Given the description of an element on the screen output the (x, y) to click on. 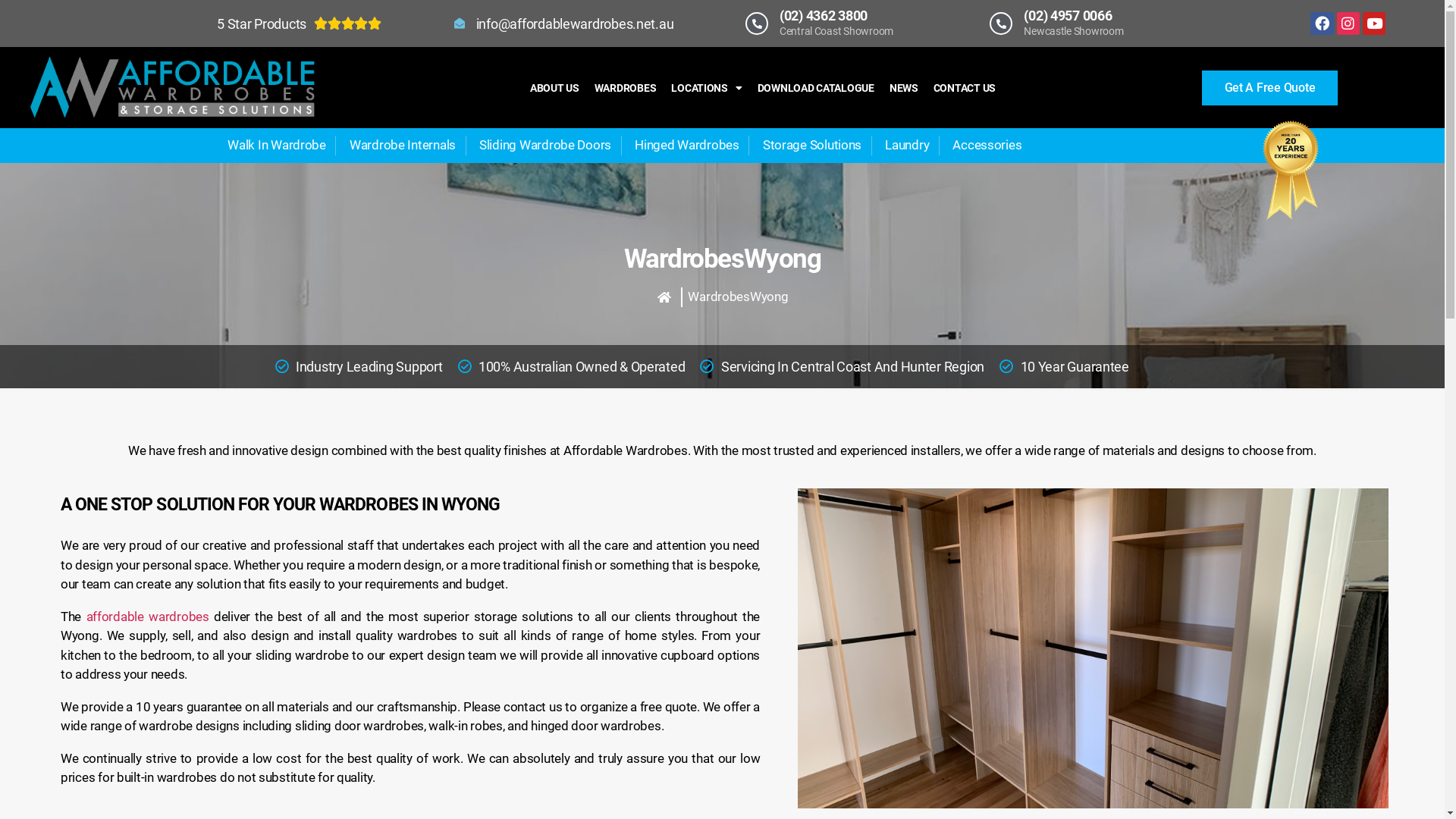
affordable wardrobes Element type: text (147, 615)
LOCATIONS Element type: text (706, 87)
NEWS Element type: text (903, 87)
(02) 4362 3800 Element type: text (823, 15)
ABOUT US Element type: text (554, 87)
WARDROBES Element type: text (625, 87)
(02) 4957 0066 Element type: text (1067, 15)
Accessories Element type: text (984, 145)
Storage Solutions Element type: text (810, 145)
Laundry Element type: text (904, 145)
Hinged Wardrobes Element type: text (684, 145)
Wardrobe Internals Element type: text (400, 145)
Get A Free Quote Element type: text (1269, 86)
DOWNLOAD CATALOGUE Element type: text (815, 87)
WardrobesWyong Element type: text (737, 297)
CONTACT US Element type: text (964, 87)
info@affordablewardrobes.net.au Element type: text (563, 23)
Sliding Wardrobe Doors Element type: text (543, 145)
Walk In Wardrobe Element type: text (274, 145)
